Given the description of an element on the screen output the (x, y) to click on. 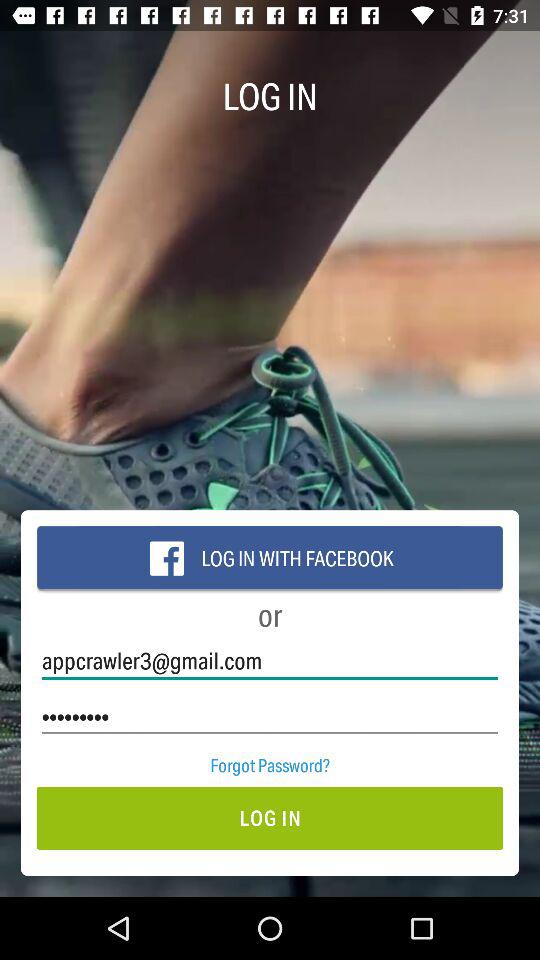
scroll to the appcrawler3@gmail.com icon (269, 660)
